Given the description of an element on the screen output the (x, y) to click on. 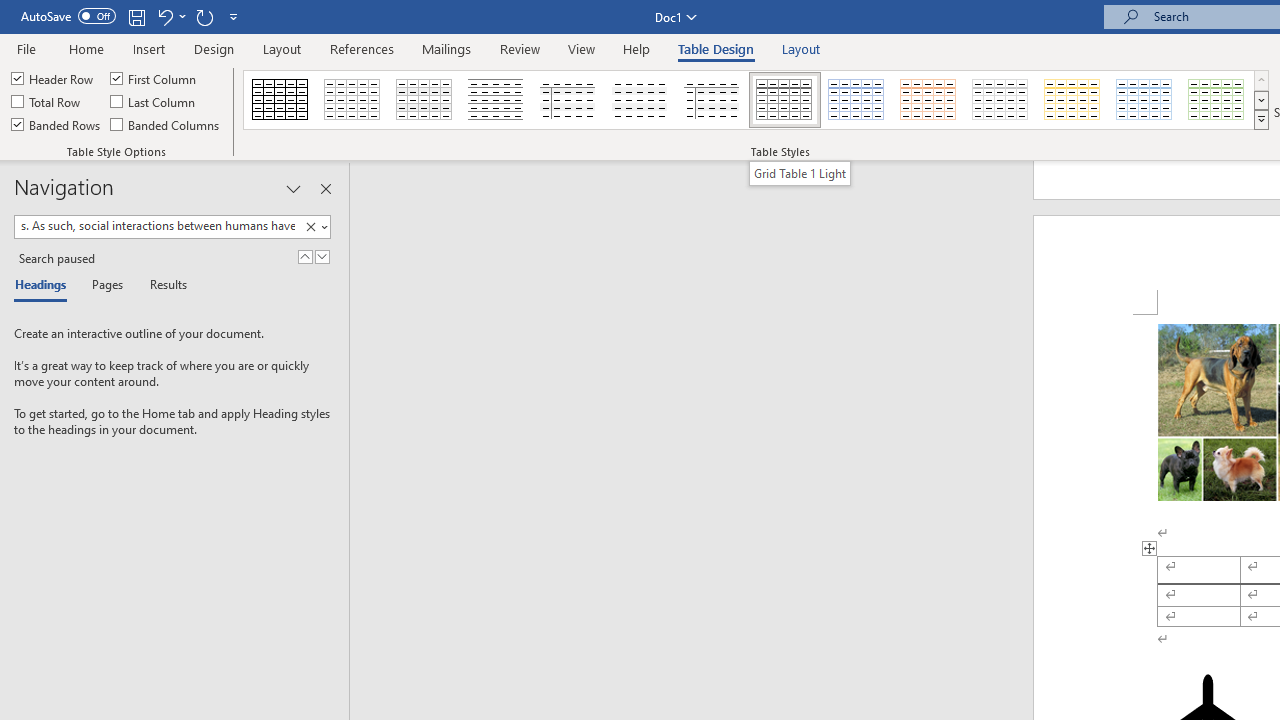
Undo Style (164, 15)
Total Row (47, 101)
Last Column (154, 101)
Clear (310, 227)
Plain Table 5 (712, 100)
Grid Table 1 Light - Accent 5 (1144, 100)
Undo Style (170, 15)
Plain Table 4 (641, 100)
